Given the description of an element on the screen output the (x, y) to click on. 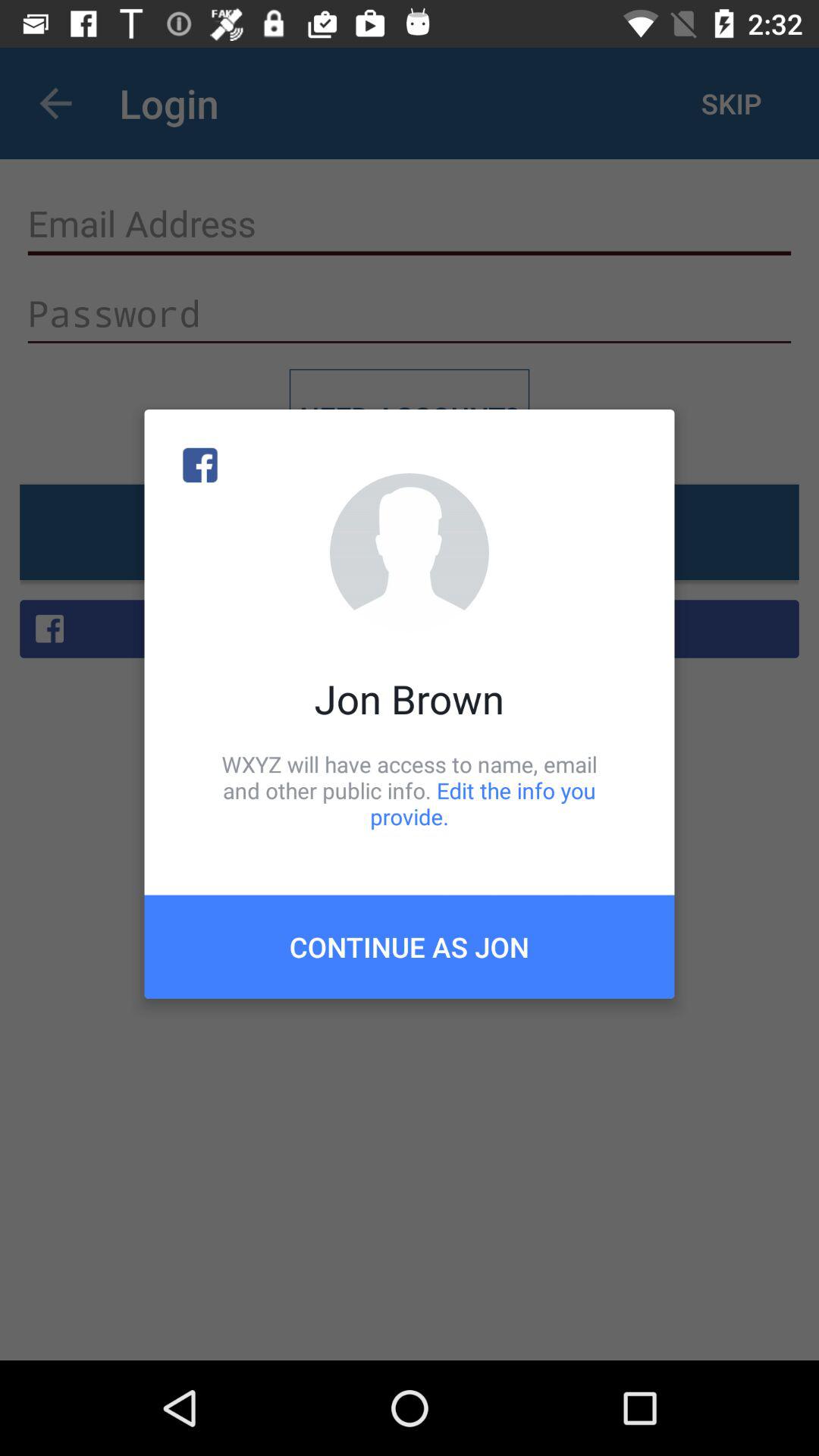
open continue as jon icon (409, 946)
